Given the description of an element on the screen output the (x, y) to click on. 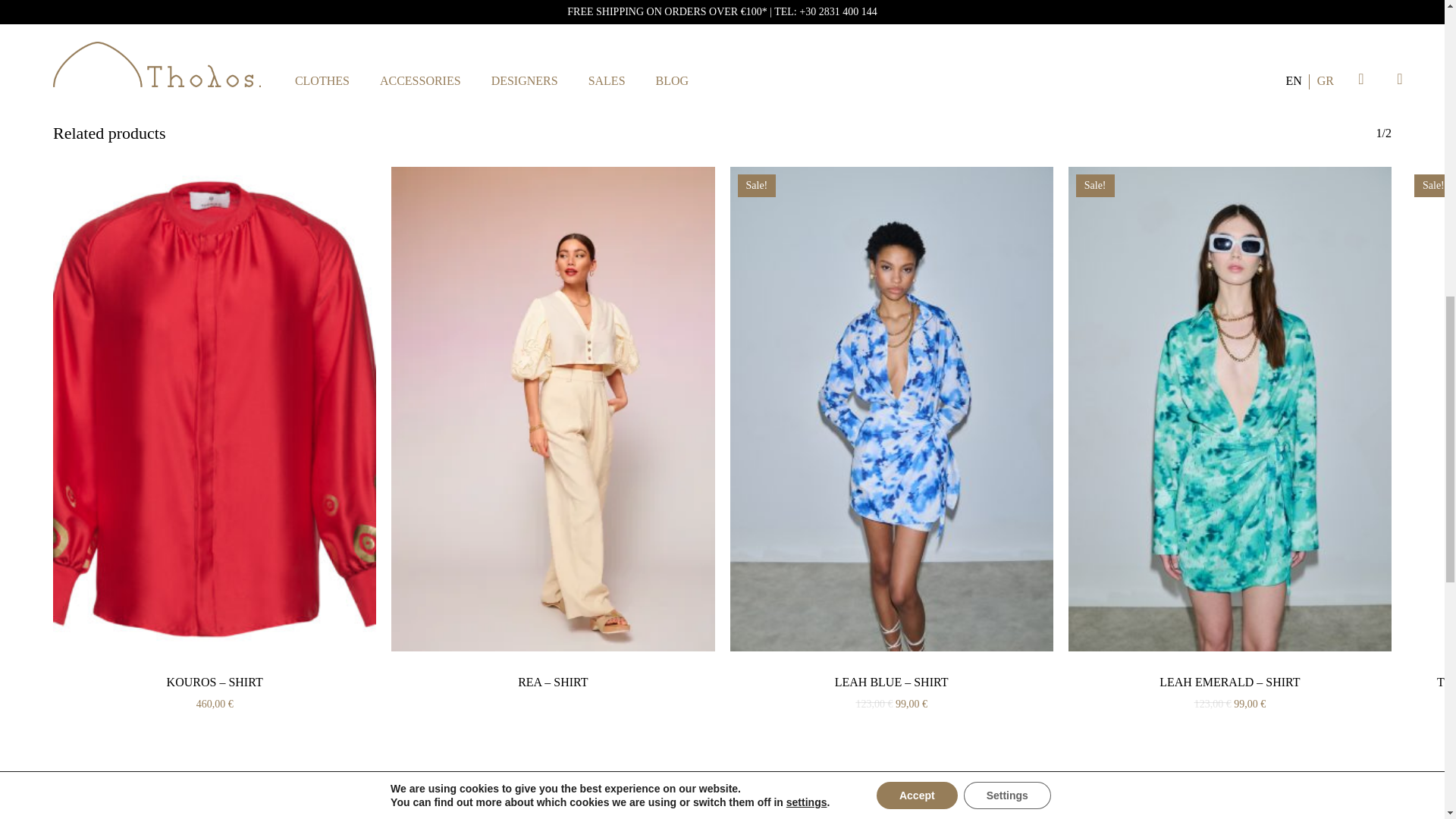
wh1 (285, 23)
